Given the description of an element on the screen output the (x, y) to click on. 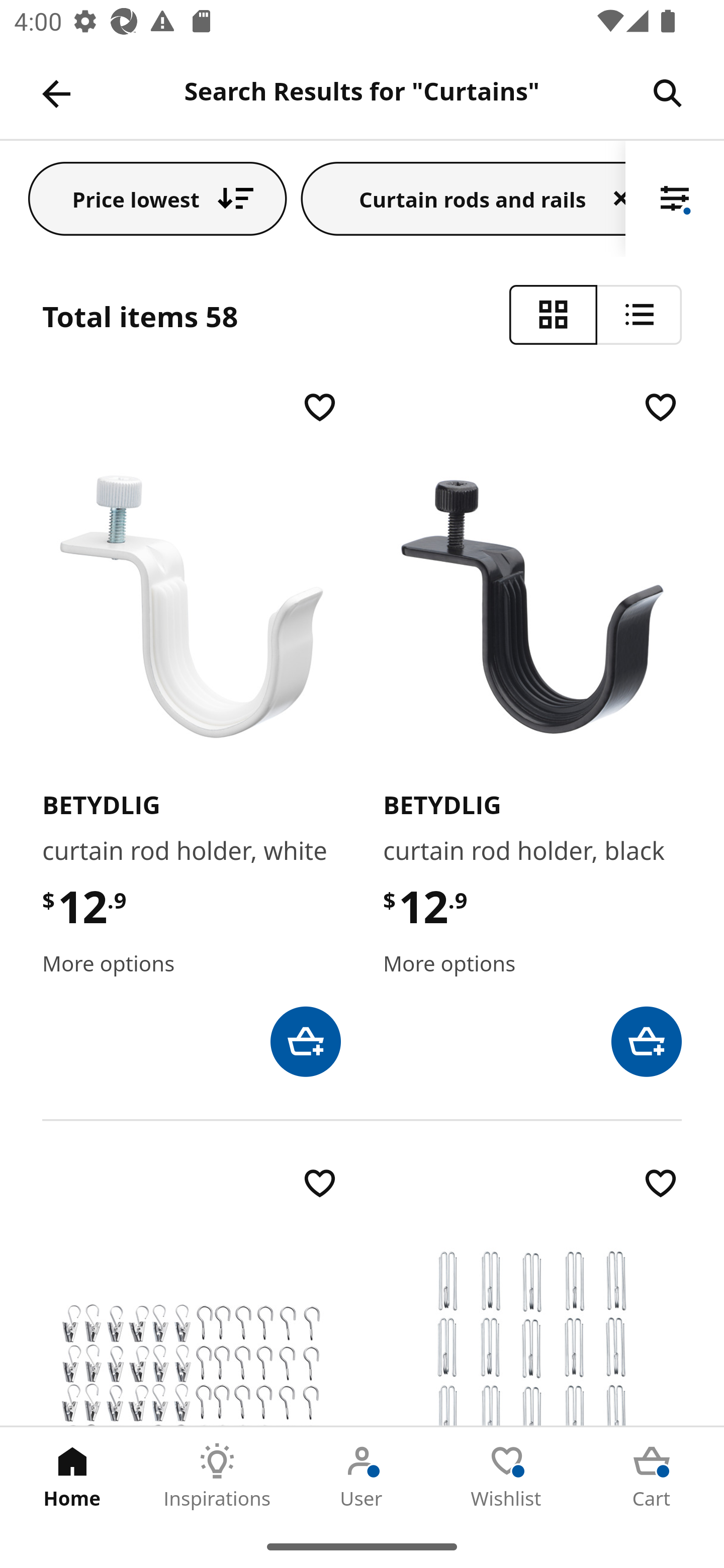
Price lowest (157, 198)
Curtain rods and rails (463, 198)
​R​I​K​T​I​G​
curtain hook, 20 pieces
$
19
.9 (532, 1294)
Home
Tab 1 of 5 (72, 1476)
Inspirations
Tab 2 of 5 (216, 1476)
User
Tab 3 of 5 (361, 1476)
Wishlist
Tab 4 of 5 (506, 1476)
Cart
Tab 5 of 5 (651, 1476)
